Given the description of an element on the screen output the (x, y) to click on. 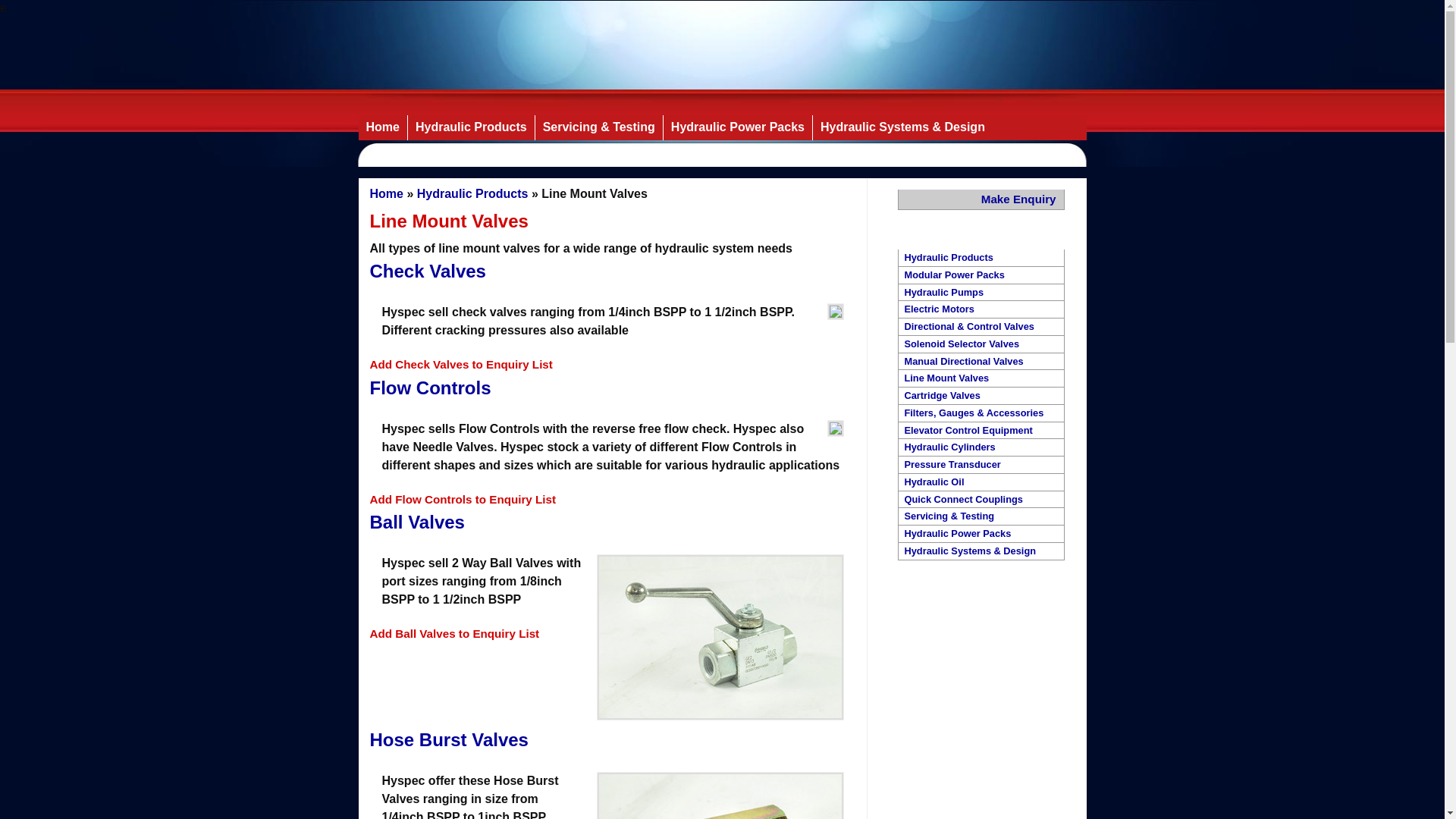
Electric Motors Element type: text (980, 309)
Servicing & Testing Element type: text (598, 127)
Hydraulic Systems & Design Element type: text (902, 127)
  Element type: text (371, 762)
Home Element type: text (381, 127)
Add Flow Controls to Enquiry List Element type: text (463, 498)
Hydraulic Pumps Element type: text (980, 292)
  Element type: text (371, 410)
Solenoid Selector Valves Element type: text (980, 344)
  Element type: text (371, 545)
Pressure Transducer Element type: text (980, 464)
Hydraulic Cylinders Element type: text (980, 447)
Home Element type: text (386, 193)
Elevator Control Equipment Element type: text (980, 430)
Line Mount Valves Element type: text (980, 378)
Add Check Valves to Enquiry List Element type: text (461, 363)
Hydraulic Power Packs Element type: text (980, 533)
Add Ball Valves to Enquiry List Element type: text (454, 633)
Hose Burst Valves Element type: text (449, 739)
  Element type: text (371, 294)
Hydraulic Products Element type: text (472, 193)
Hydraulic Products Element type: text (470, 127)
Filters, Gauges & Accessories Element type: text (980, 413)
Manual Directional Valves Element type: text (980, 361)
Servicing & Testing Element type: text (980, 516)
Flow Controls Element type: text (430, 387)
Hydraulic Power Packs Element type: text (737, 127)
Ball Valves Element type: text (417, 521)
Check Valves Element type: text (428, 270)
Cartridge Valves Element type: text (980, 395)
Hydraulic Systems & Design Element type: text (980, 551)
Hydraulic Products Element type: text (980, 257)
Hydraulic Oil Element type: text (980, 482)
Modular Power Packs Element type: text (980, 275)
Make Enquiry Element type: text (980, 199)
Directional & Control Valves Element type: text (980, 326)
Quick Connect Couplings Element type: text (980, 499)
